Given the description of an element on the screen output the (x, y) to click on. 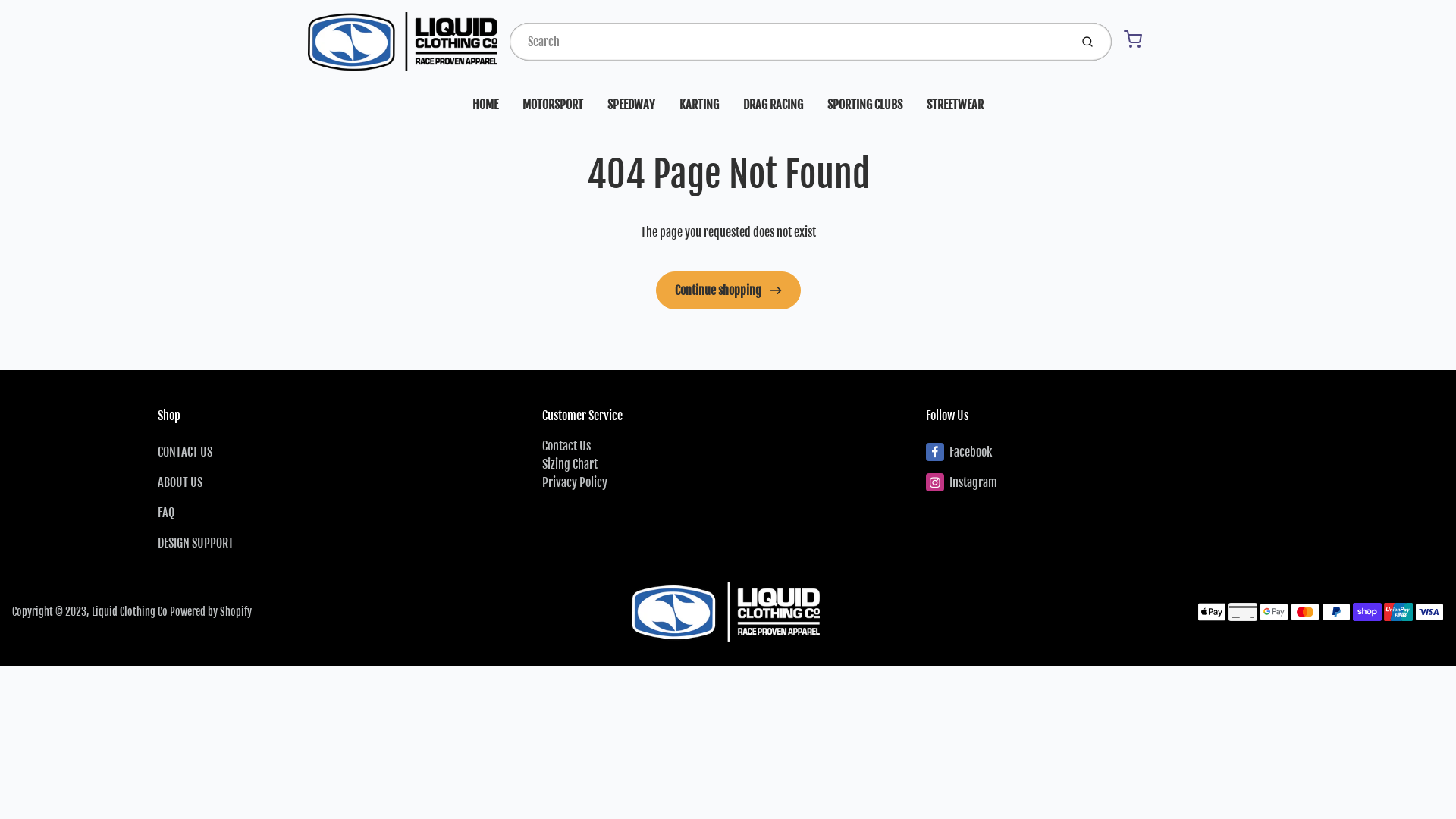
Liquid Clothing Co Element type: text (129, 611)
ABOUT US Element type: text (343, 482)
STREETWEAR Element type: text (954, 104)
Contact Us Element type: text (566, 445)
CONTACT US Element type: text (343, 451)
Instagram Element type: text (1111, 482)
HOME Element type: text (485, 104)
KARTING Element type: text (699, 104)
MOTORSPORT Element type: text (552, 104)
Privacy Policy Element type: text (574, 481)
DESIGN SUPPORT Element type: text (343, 542)
Powered by Shopify Element type: text (210, 611)
Sizing Chart Element type: text (569, 463)
DRAG RACING Element type: text (773, 104)
SPORTING CLUBS Element type: text (864, 104)
Submit Element type: text (1088, 41)
Cart Element type: text (1132, 39)
Facebook Element type: text (1111, 451)
SPEEDWAY Element type: text (631, 104)
FAQ Element type: text (343, 512)
Continue shopping Element type: text (727, 290)
